Given the description of an element on the screen output the (x, y) to click on. 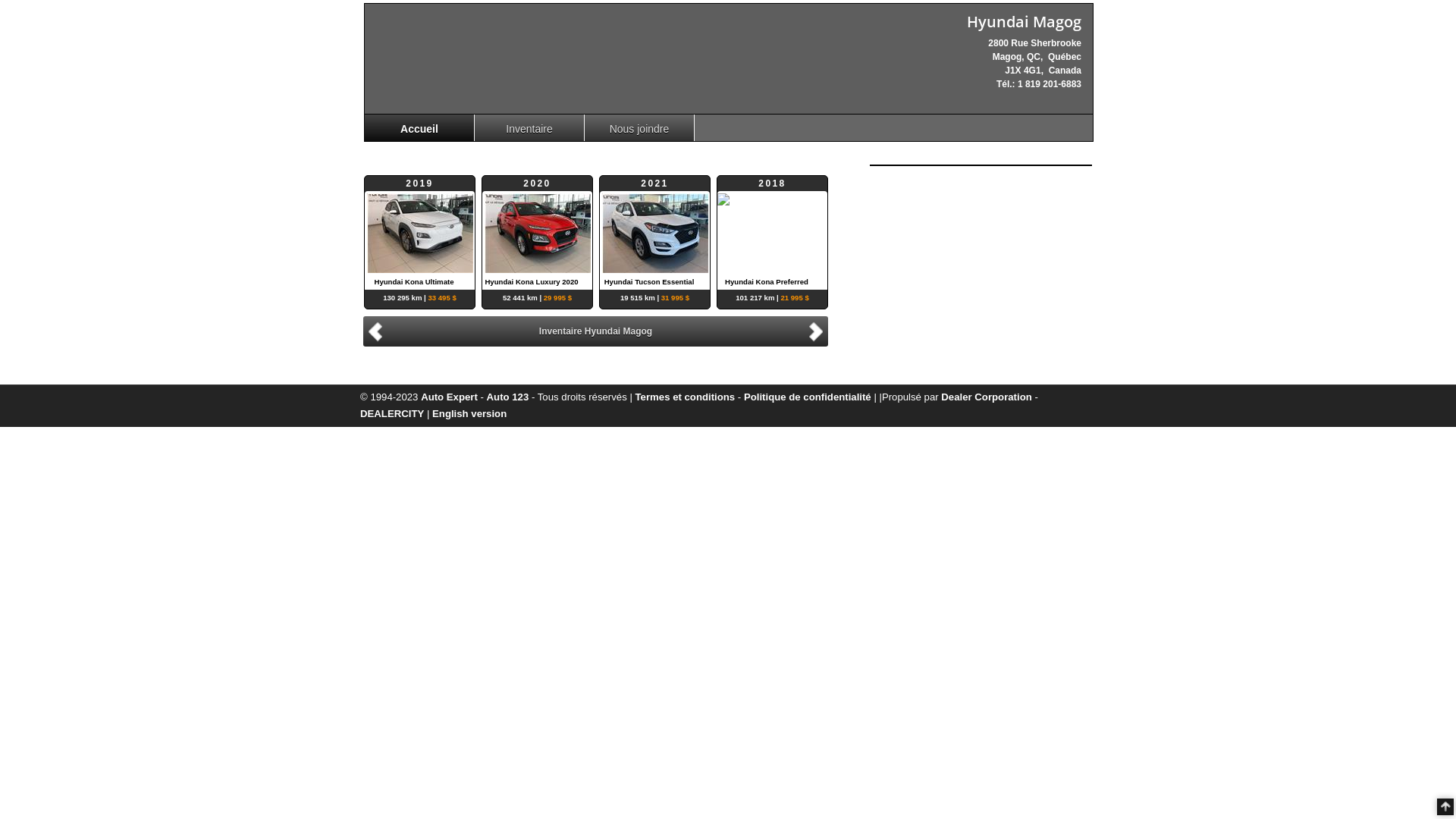
English version Element type: text (469, 413)
DEALERCITY Element type: text (391, 413)
2018
Hyundai Kona Preferred 2018
101 217 km | 21 995 $ Element type: text (772, 232)
2020
Hyundai Kona Luxury 2020
52 441 km | 29 995 $ Element type: text (537, 232)
Auto 123 Element type: text (507, 396)
Accueil Element type: text (419, 127)
Inventaire Element type: text (529, 127)
Auto Expert Element type: text (448, 396)
Termes et conditions Element type: text (685, 396)
Nous joindre Element type: text (639, 127)
Dealer Corporation Element type: text (986, 396)
Suivant Element type: hover (818, 329)
2021
Hyundai Tucson Essential 2021
19 515 km | 31 995 $ Element type: text (654, 232)
